Given the description of an element on the screen output the (x, y) to click on. 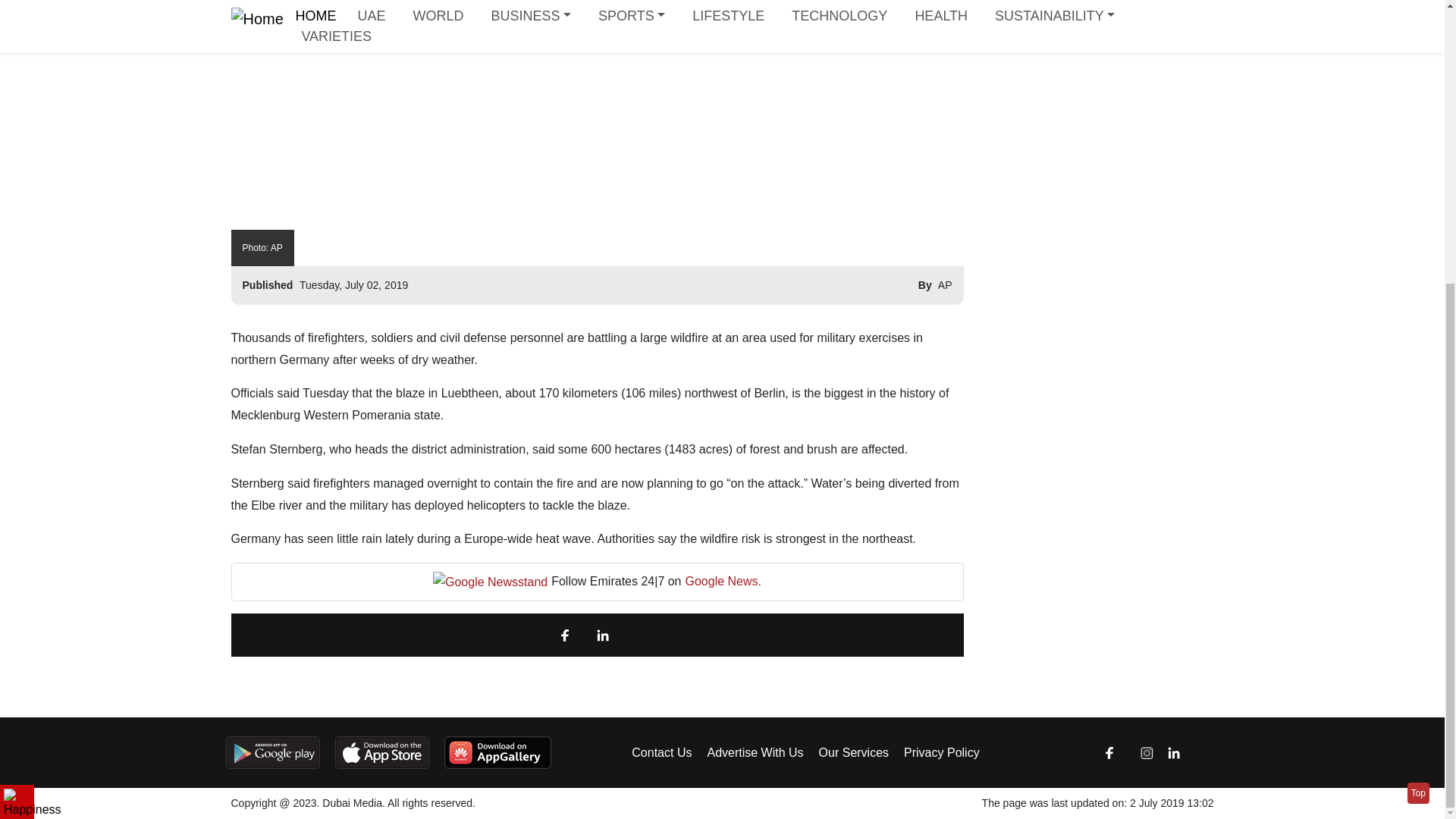
Go to top (1418, 367)
Google News. (723, 581)
